Given the description of an element on the screen output the (x, y) to click on. 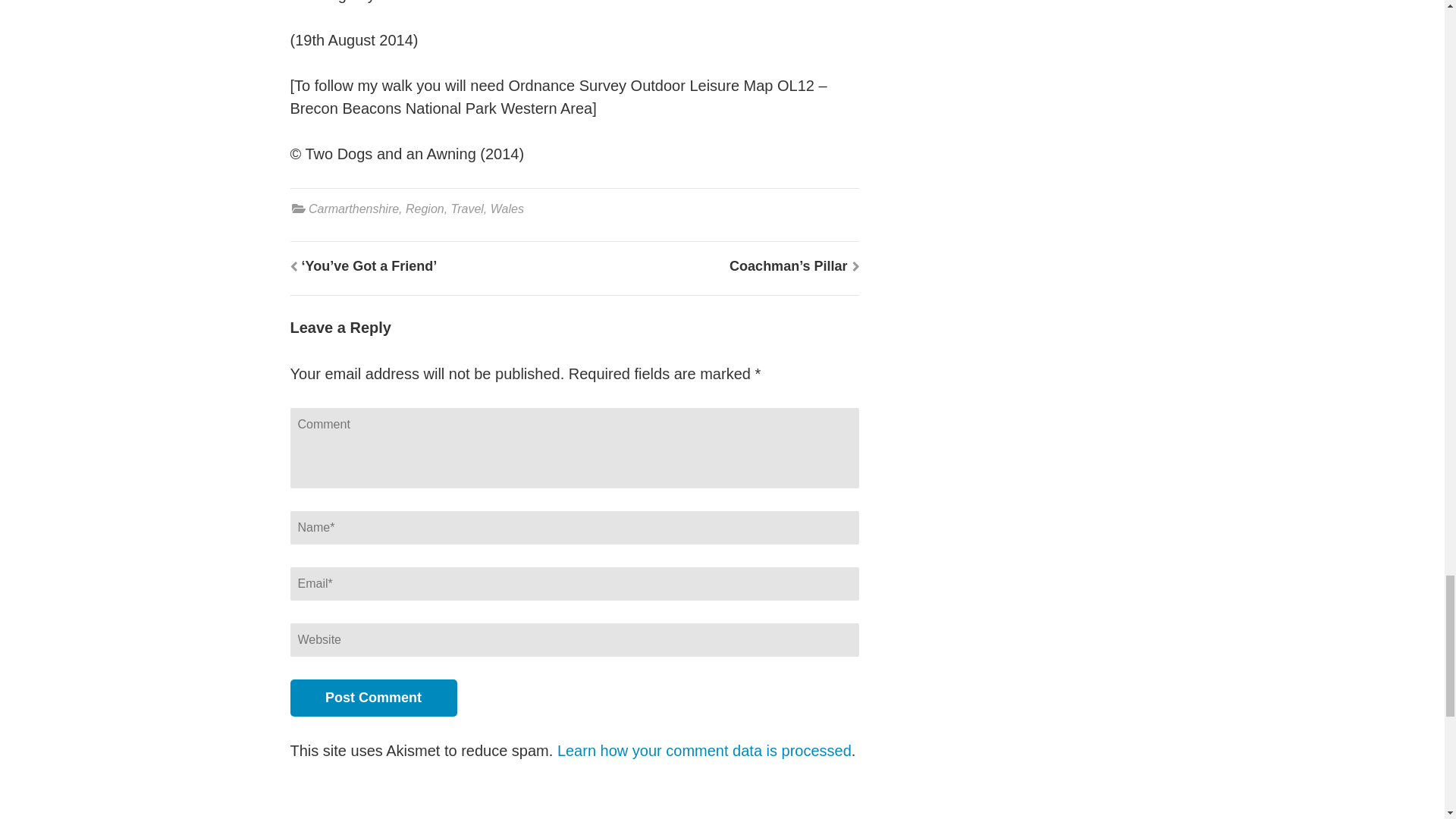
Post Comment (373, 697)
